Given the description of an element on the screen output the (x, y) to click on. 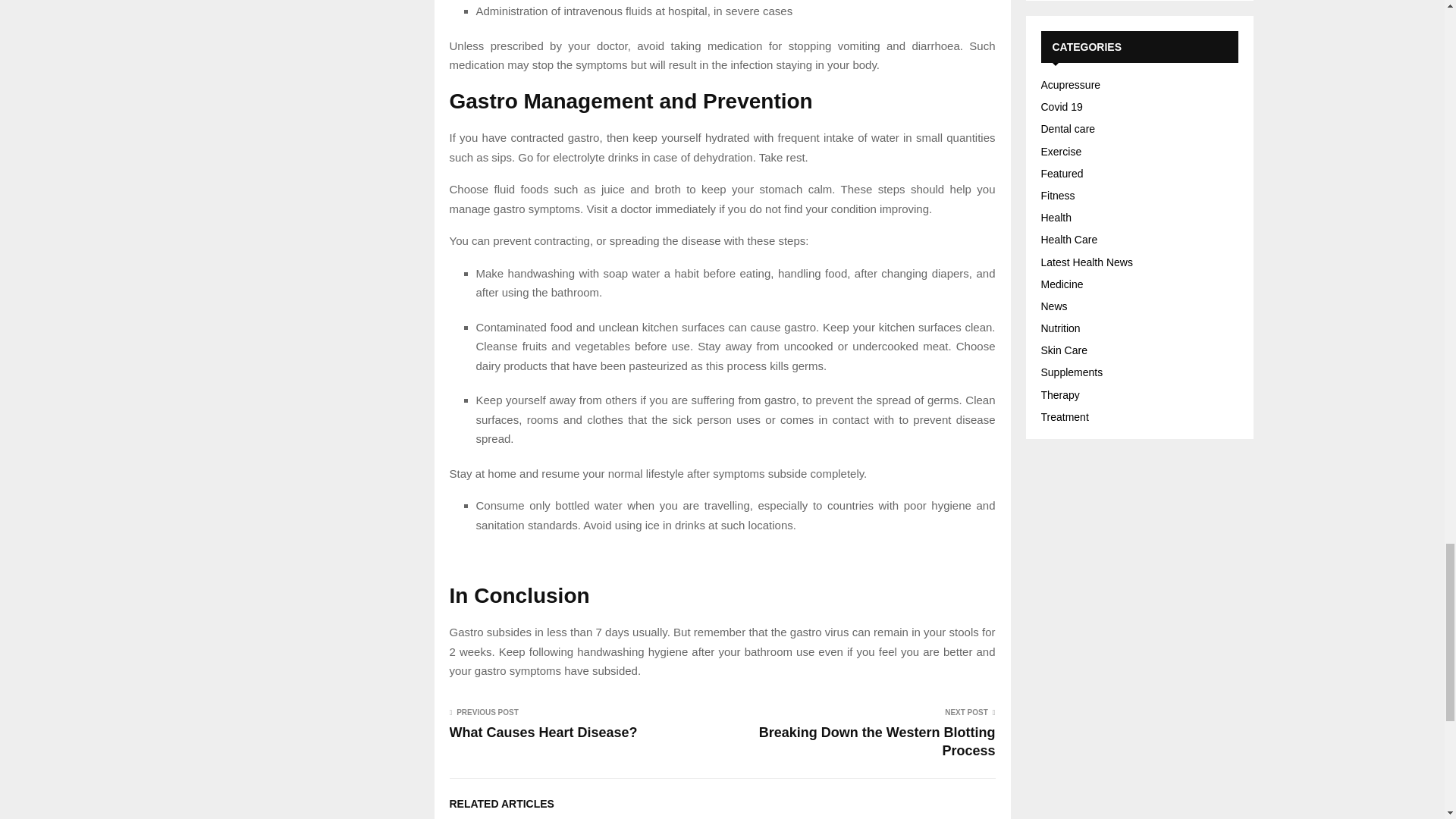
What Causes Heart Disease? (542, 732)
Breaking Down the Western Blotting Process (876, 741)
